Given the description of an element on the screen output the (x, y) to click on. 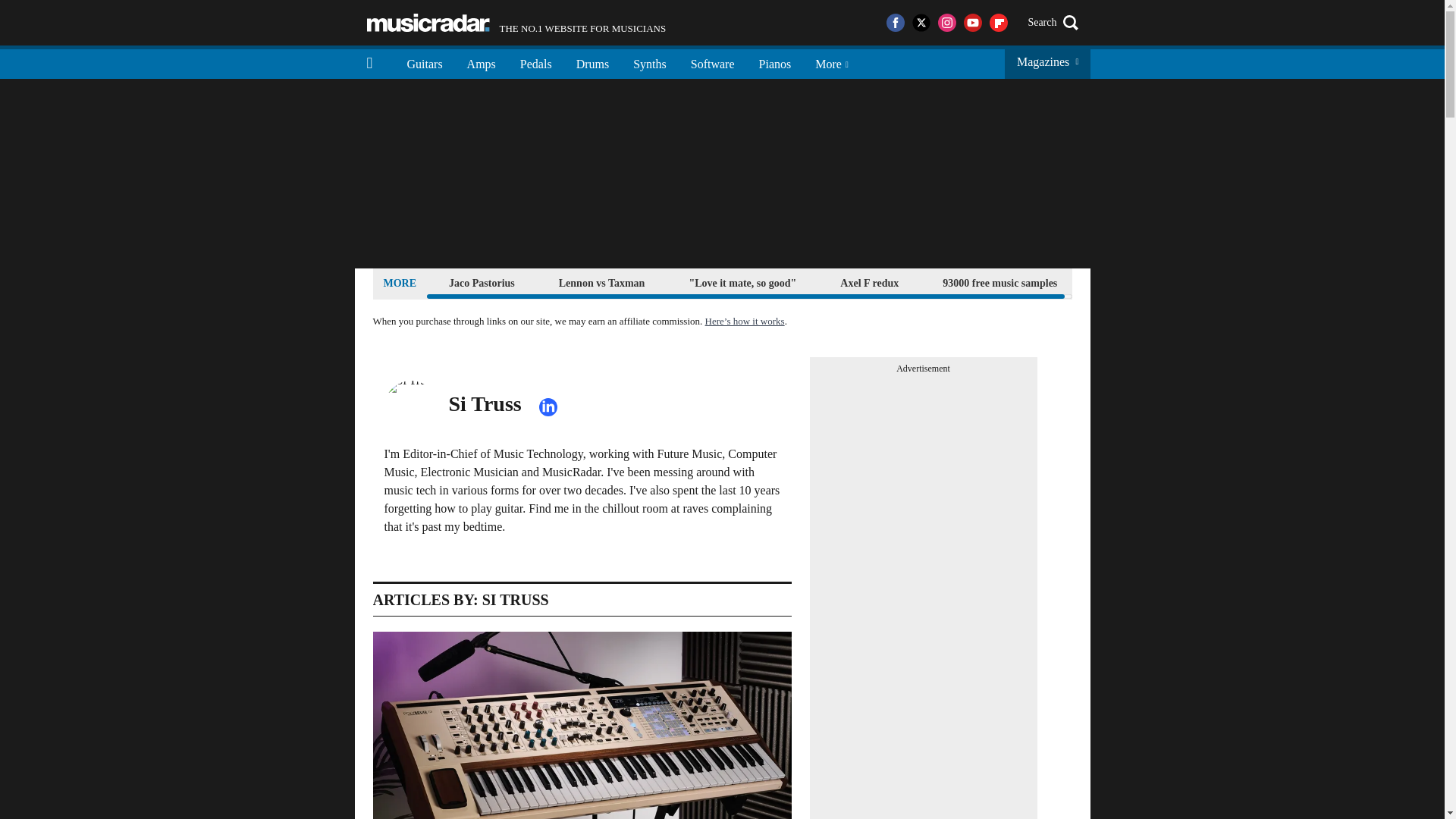
Synths (649, 61)
Pianos (774, 61)
Lennon vs Taxman (601, 282)
"Love it mate, so good" (742, 282)
Axel F redux (869, 282)
93000 free music samples (999, 282)
Software (712, 61)
Pedals (536, 61)
Amps (481, 61)
Jaco Pastorius (481, 282)
Music Radar (427, 22)
Drums (516, 22)
